Given the description of an element on the screen output the (x, y) to click on. 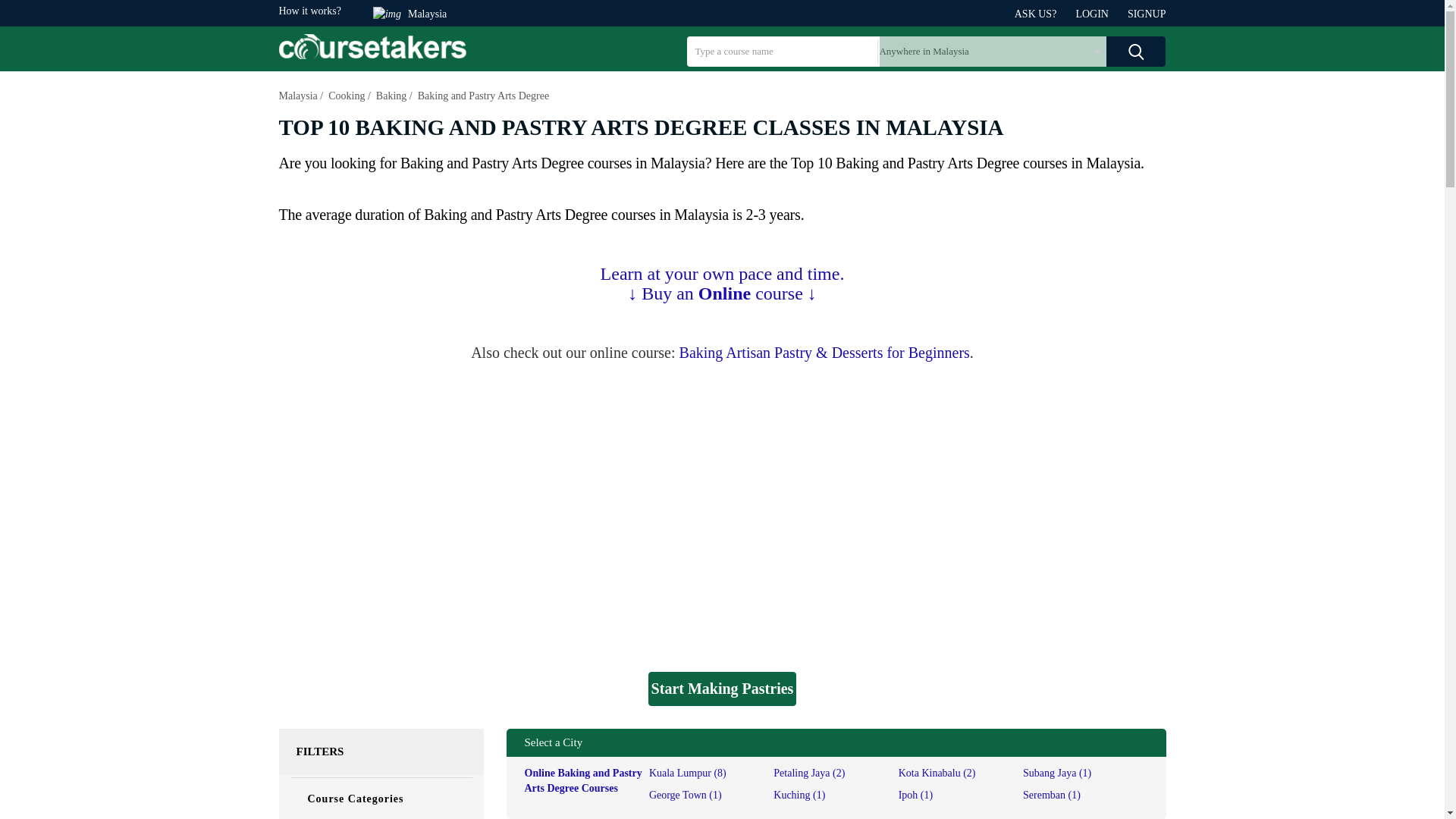
YouTube video player (721, 512)
LOGIN (1100, 14)
Cooking (347, 95)
ASK US? (1044, 14)
Start Making Pastries (721, 688)
Malaysia (298, 95)
Malaysia (417, 14)
Baking (390, 95)
Course Categories (379, 798)
How it works? (309, 10)
